Given the description of an element on the screen output the (x, y) to click on. 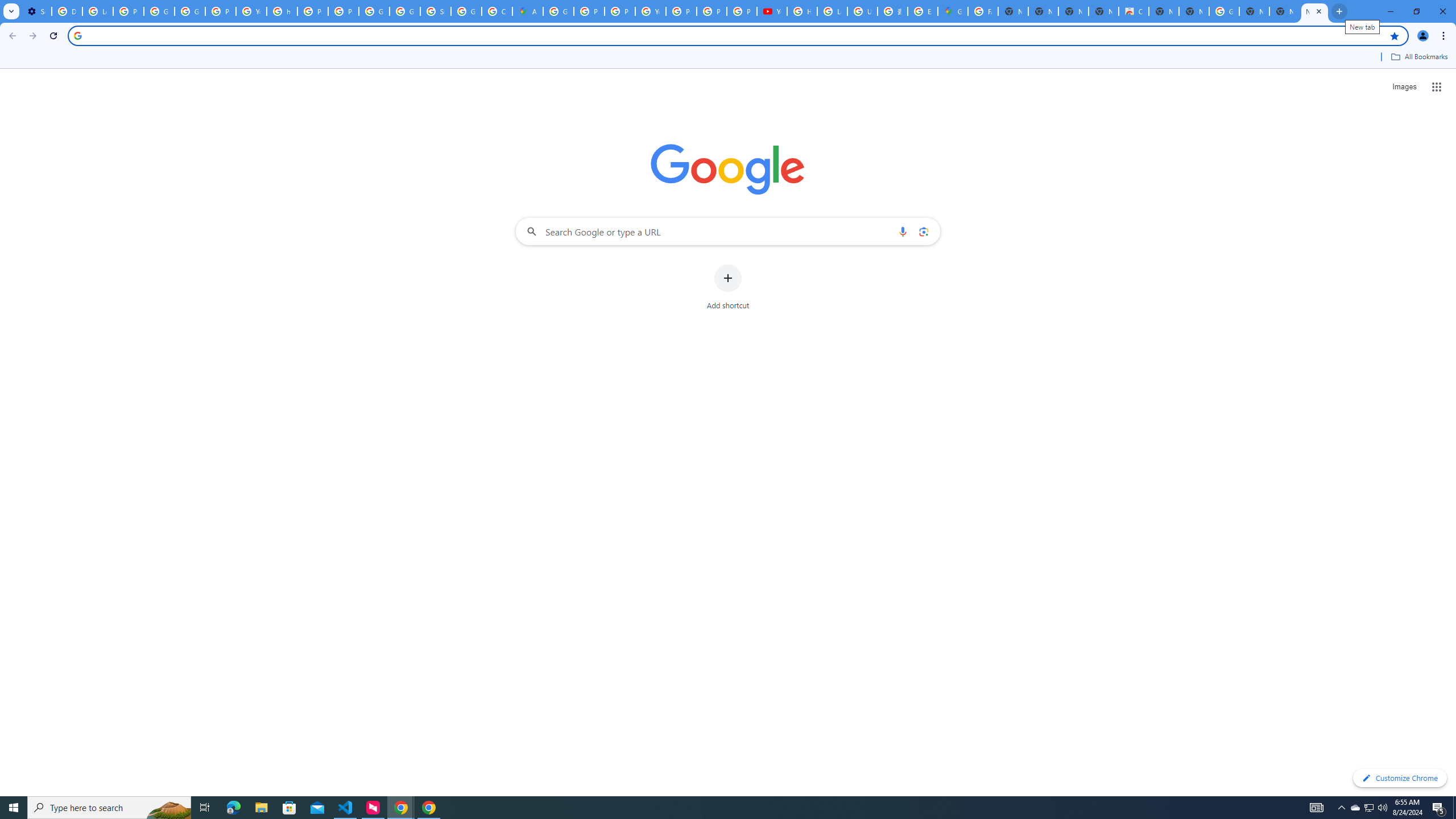
Privacy Help Center - Policies Help (619, 11)
Search by voice (902, 230)
YouTube (251, 11)
All Bookmarks (1418, 56)
Add shortcut (727, 287)
Minimize (1390, 11)
Google Maps (952, 11)
Close (1318, 11)
Chrome Web Store (1133, 11)
Customize Chrome (1399, 778)
YouTube (771, 11)
